Given the description of an element on the screen output the (x, y) to click on. 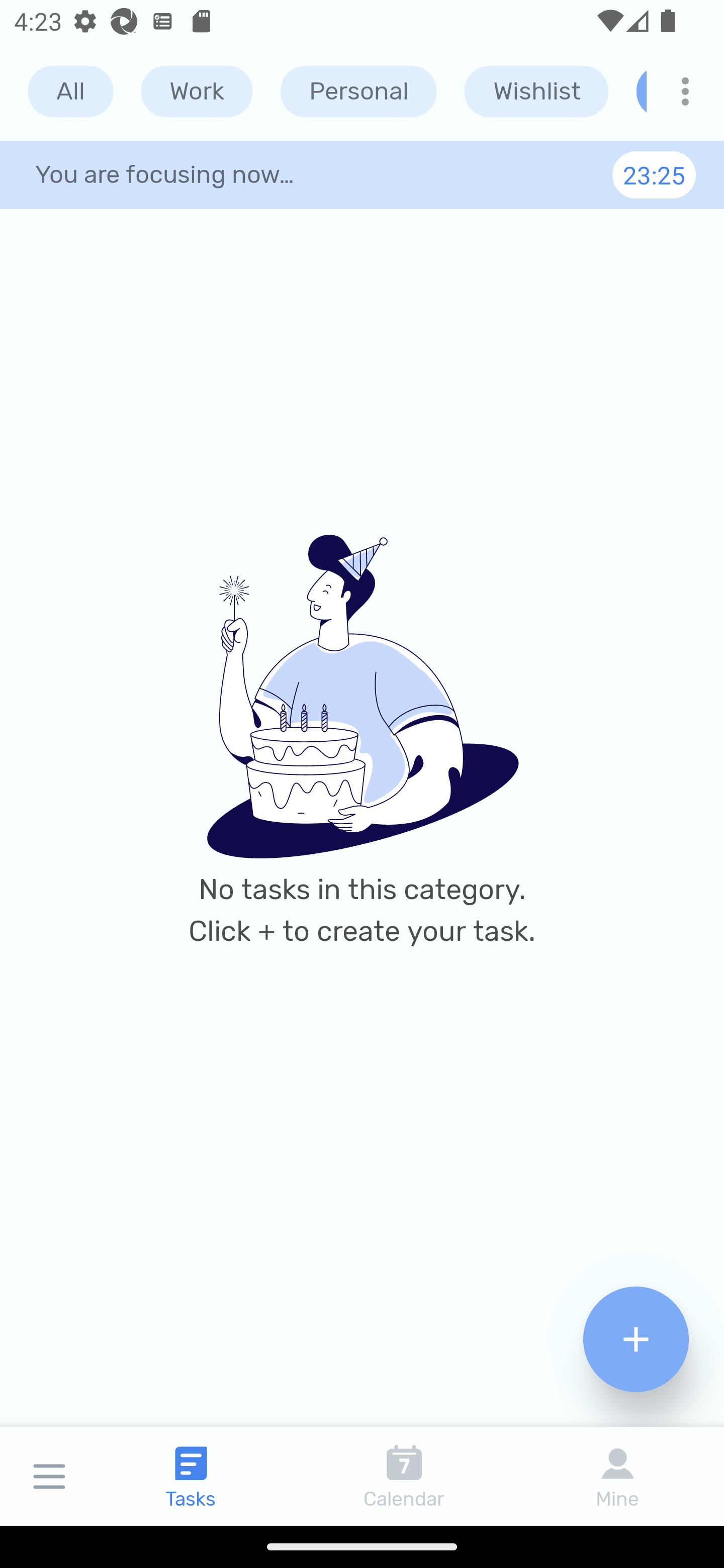
All (70, 91)
Work (196, 91)
Personal (358, 91)
Wishlist (536, 91)
You are focusing now… 23:25 (362, 174)
Tasks (190, 1475)
Calendar (404, 1475)
Mine (617, 1475)
